Given the description of an element on the screen output the (x, y) to click on. 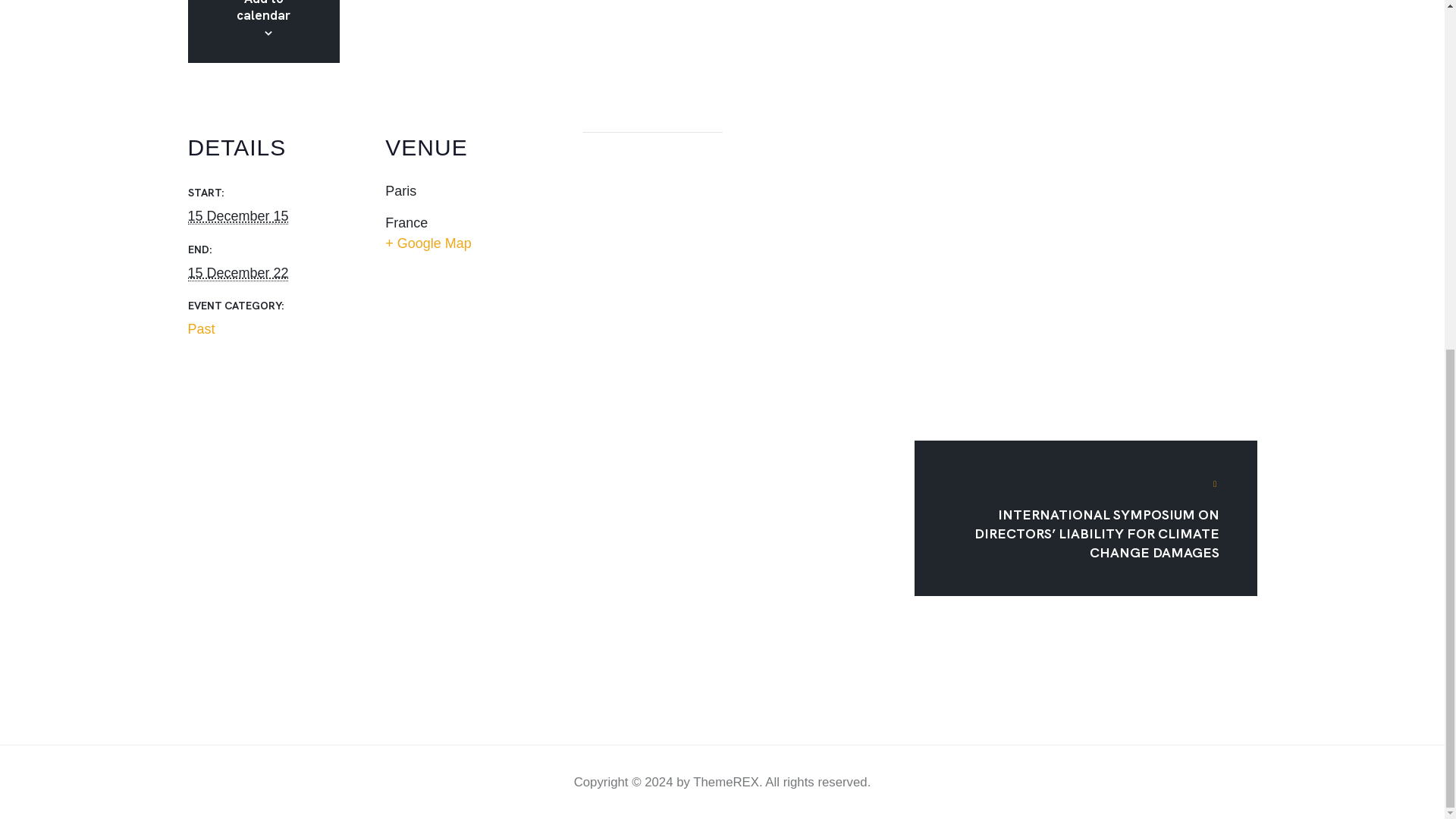
2022-12-15 (237, 273)
2015-12-15 (237, 216)
Click to view a Google Map (454, 243)
Past (256, 329)
Add to calendar (262, 11)
